Given the description of an element on the screen output the (x, y) to click on. 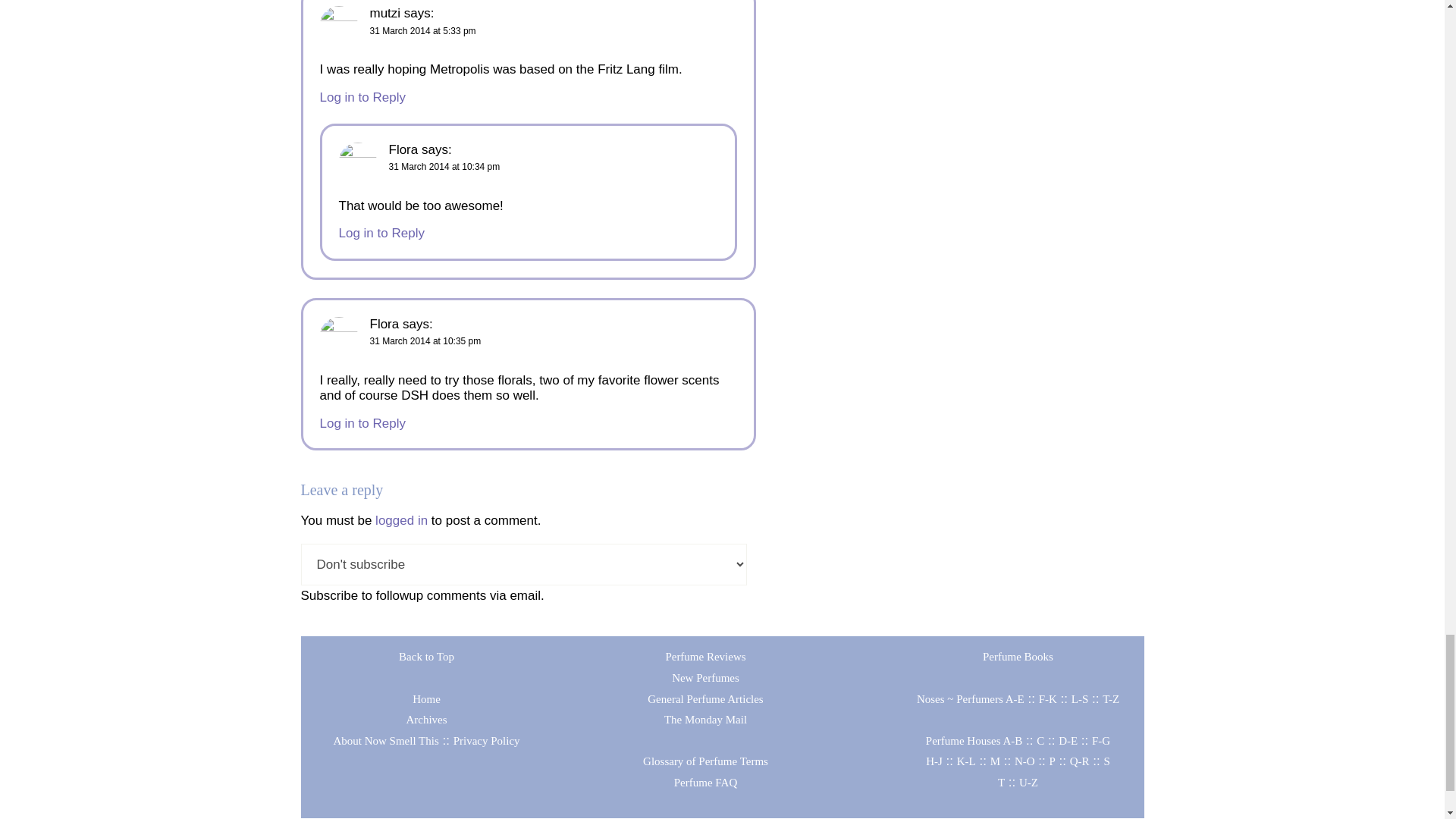
Log in to Reply (363, 97)
